Given the description of an element on the screen output the (x, y) to click on. 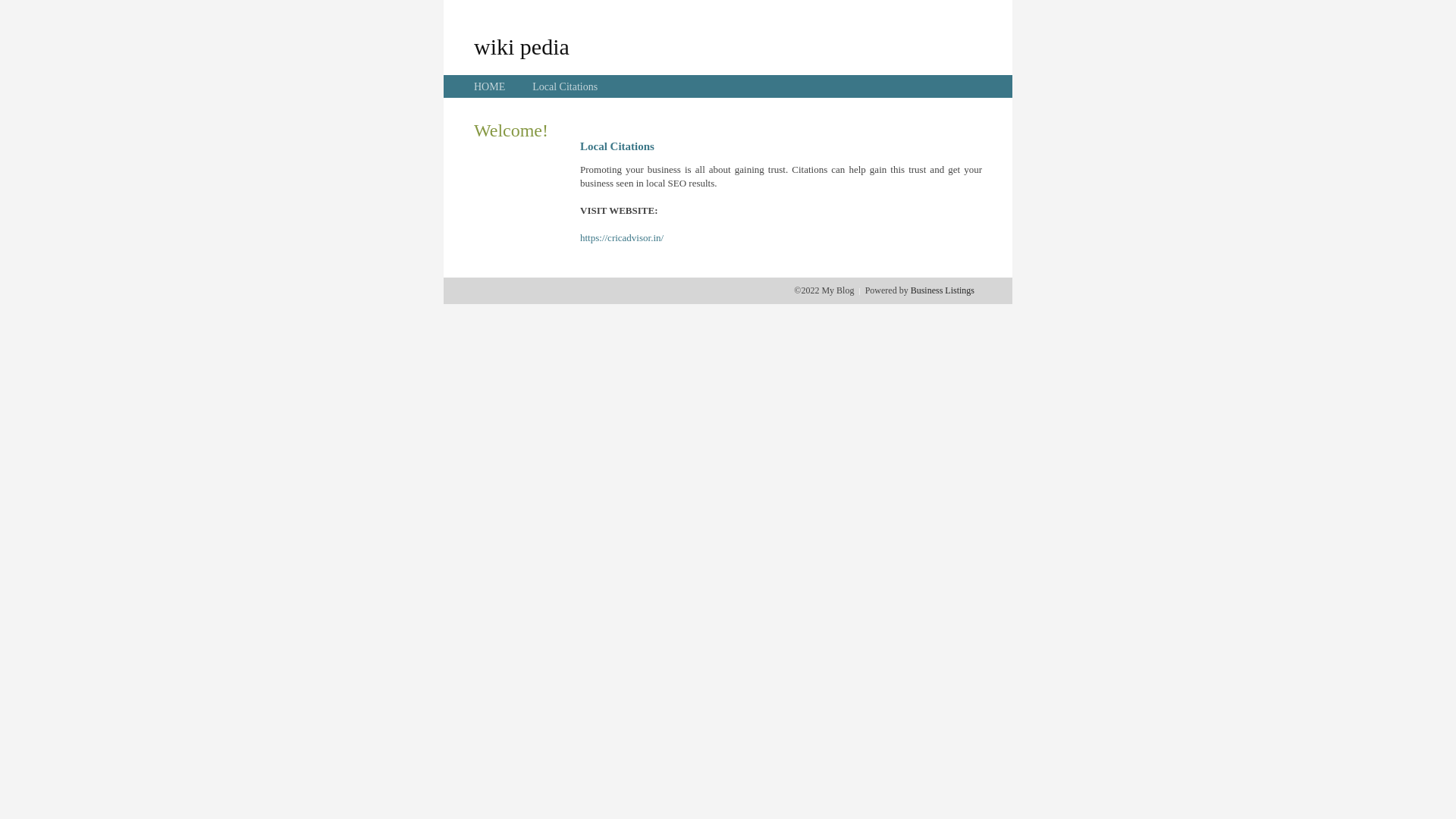
Local Citations Element type: text (564, 86)
wiki pedia Element type: text (521, 46)
HOME Element type: text (489, 86)
Business Listings Element type: text (942, 290)
https://cricadvisor.in/ Element type: text (621, 237)
